Given the description of an element on the screen output the (x, y) to click on. 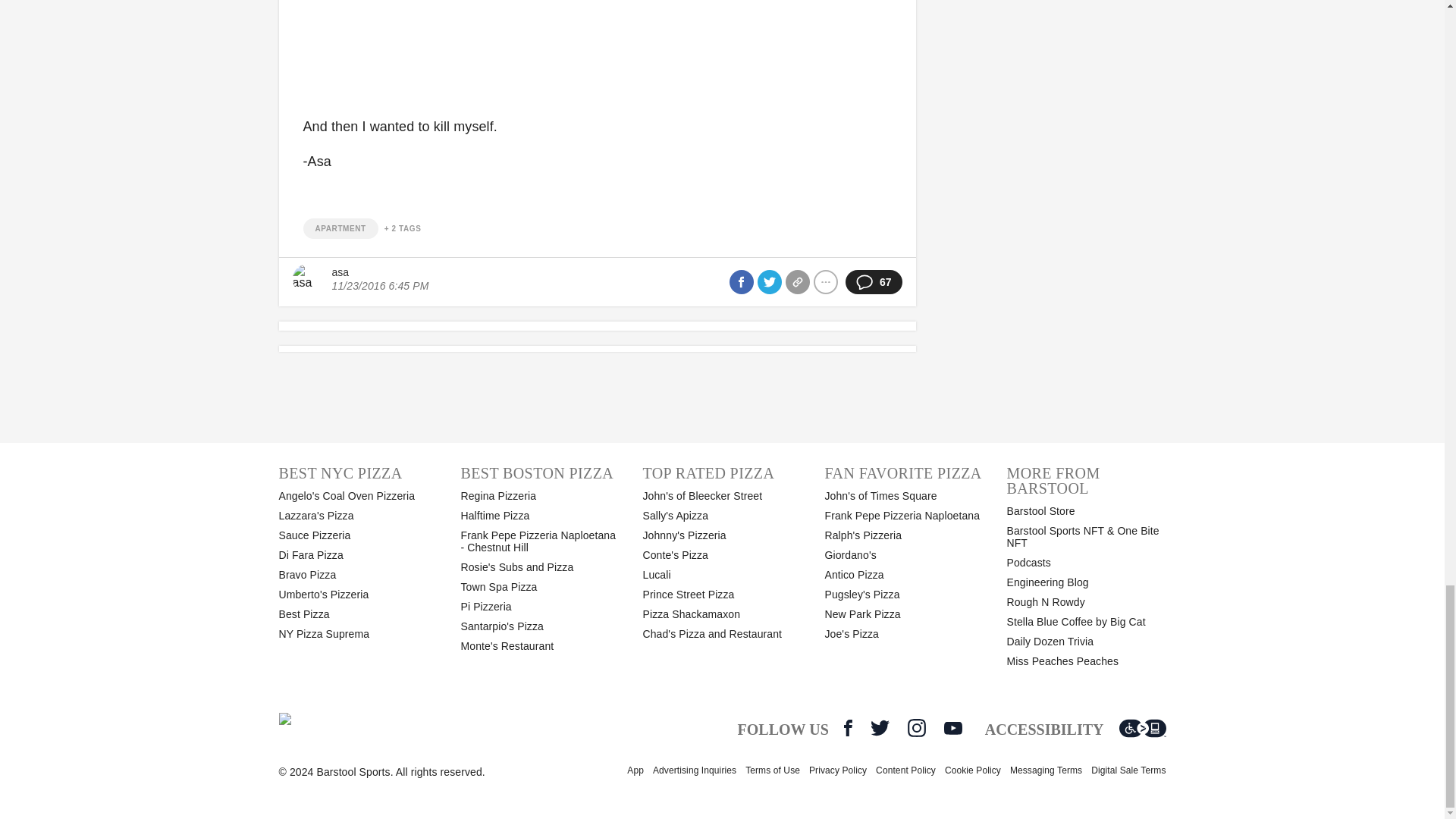
Facebook Icon (847, 728)
YouTube Icon (952, 728)
Level Access website accessibility icon (1142, 728)
Instagram Icon (916, 728)
Twitter Icon (879, 728)
